Given the description of an element on the screen output the (x, y) to click on. 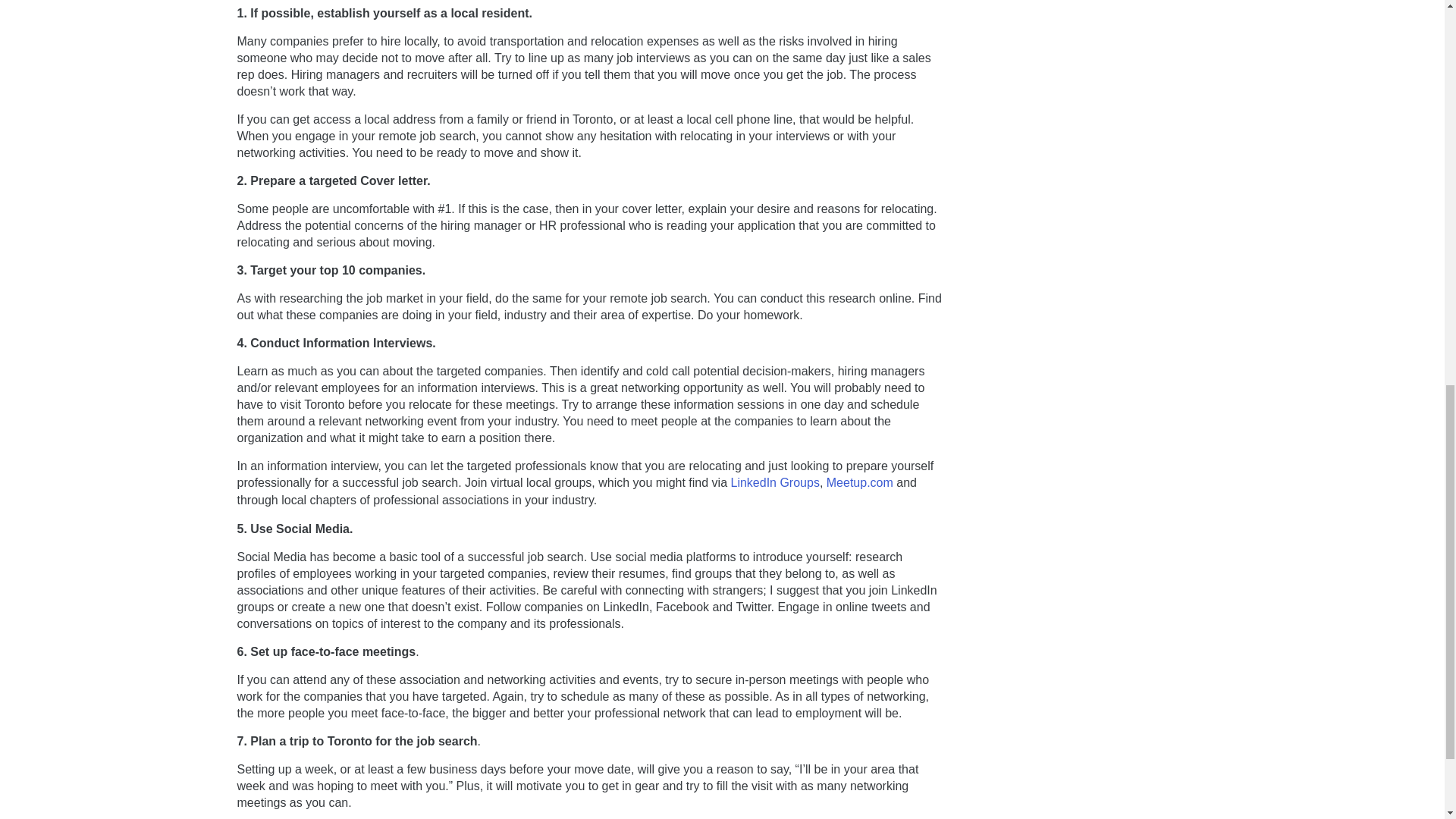
HOW TO: Use LinkedIn Groups to Enhance Your Job Search (774, 481)
LinkedIn Groups (774, 481)
meetup.com (860, 481)
Meetup.com (860, 481)
